Given the description of an element on the screen output the (x, y) to click on. 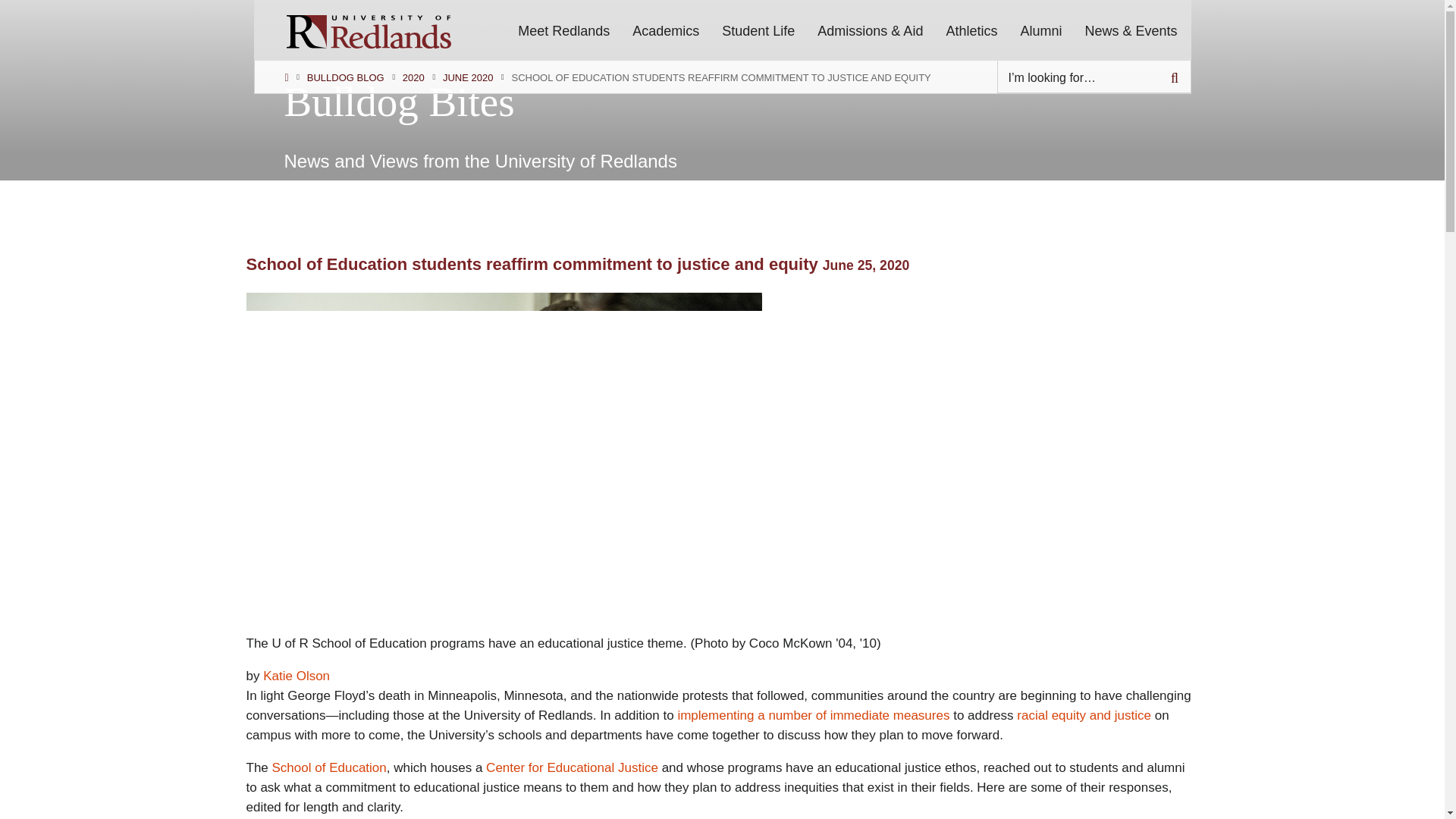
racial equity and justice (1083, 715)
School of Education (329, 767)
Search (1174, 76)
Katie Olson (296, 676)
implementing a number of immediate measures (813, 715)
Bulldog Bites (398, 101)
Alumni (1040, 29)
Athletics (970, 29)
BULLDOG BLOG (345, 78)
2020 (414, 78)
